Given the description of an element on the screen output the (x, y) to click on. 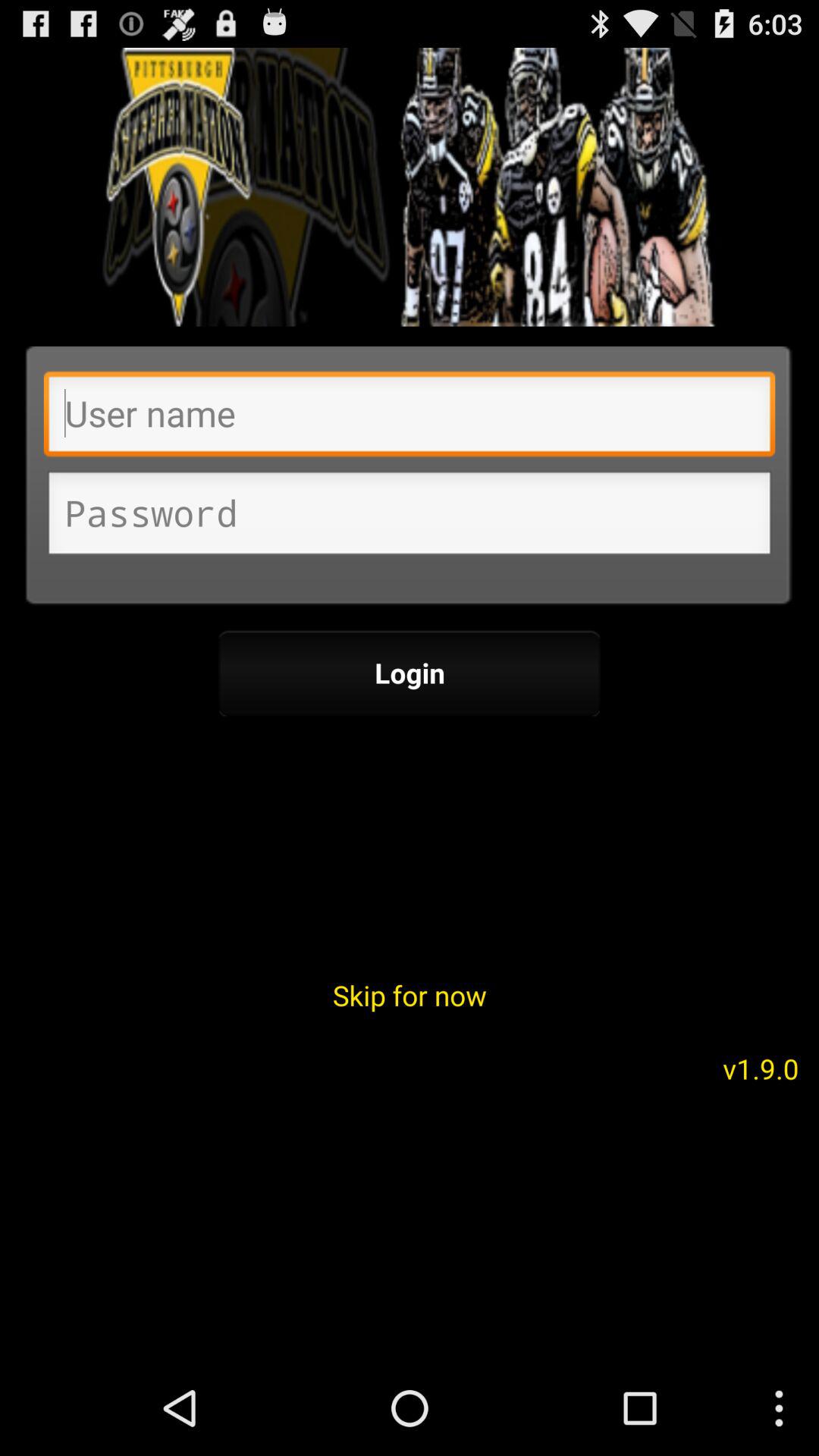
open the icon below the login button (409, 995)
